Given the description of an element on the screen output the (x, y) to click on. 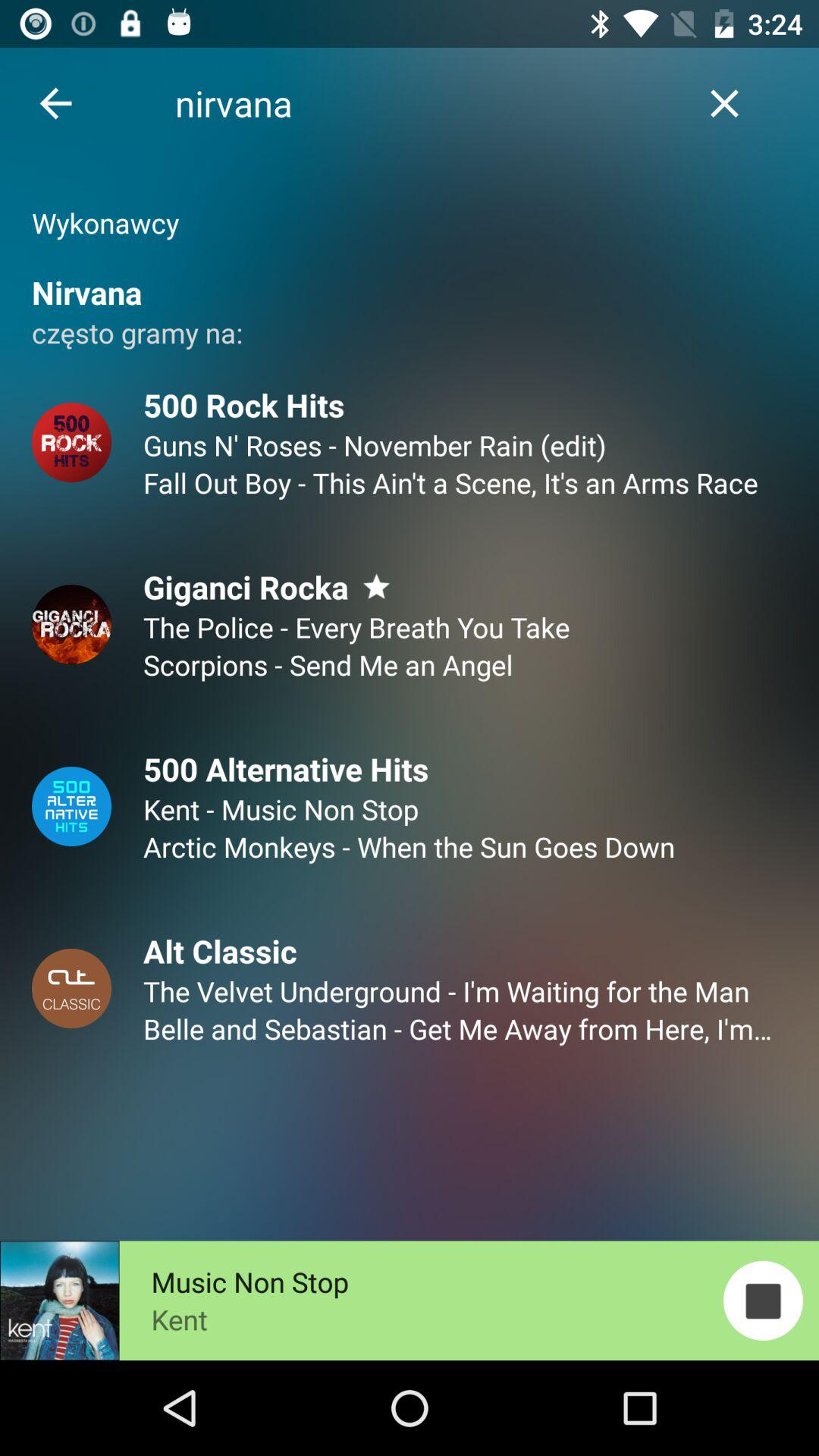
turn off the icon to the right of music non stop icon (763, 1300)
